Given the description of an element on the screen output the (x, y) to click on. 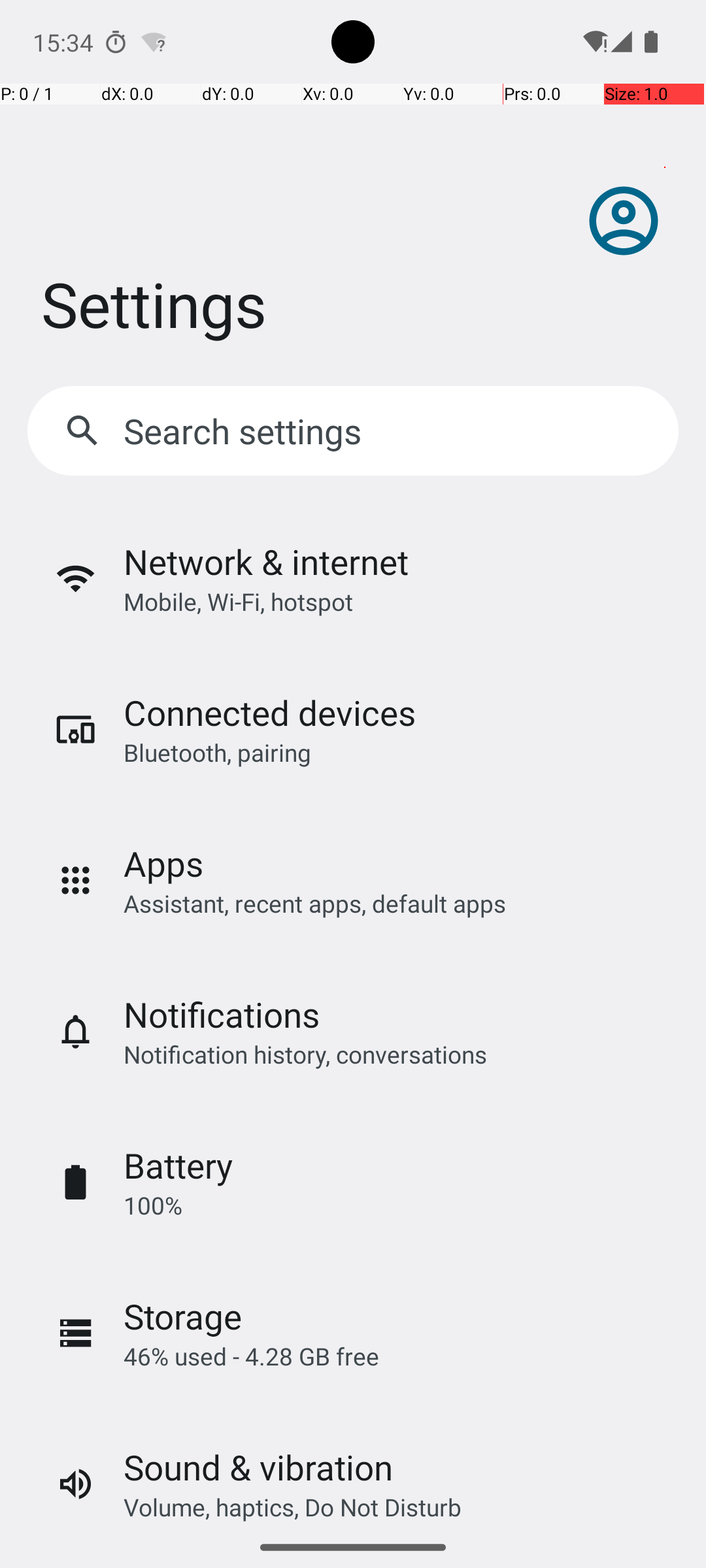
46% used - 4.28 GB free Element type: android.widget.TextView (251, 1355)
